Given the description of an element on the screen output the (x, y) to click on. 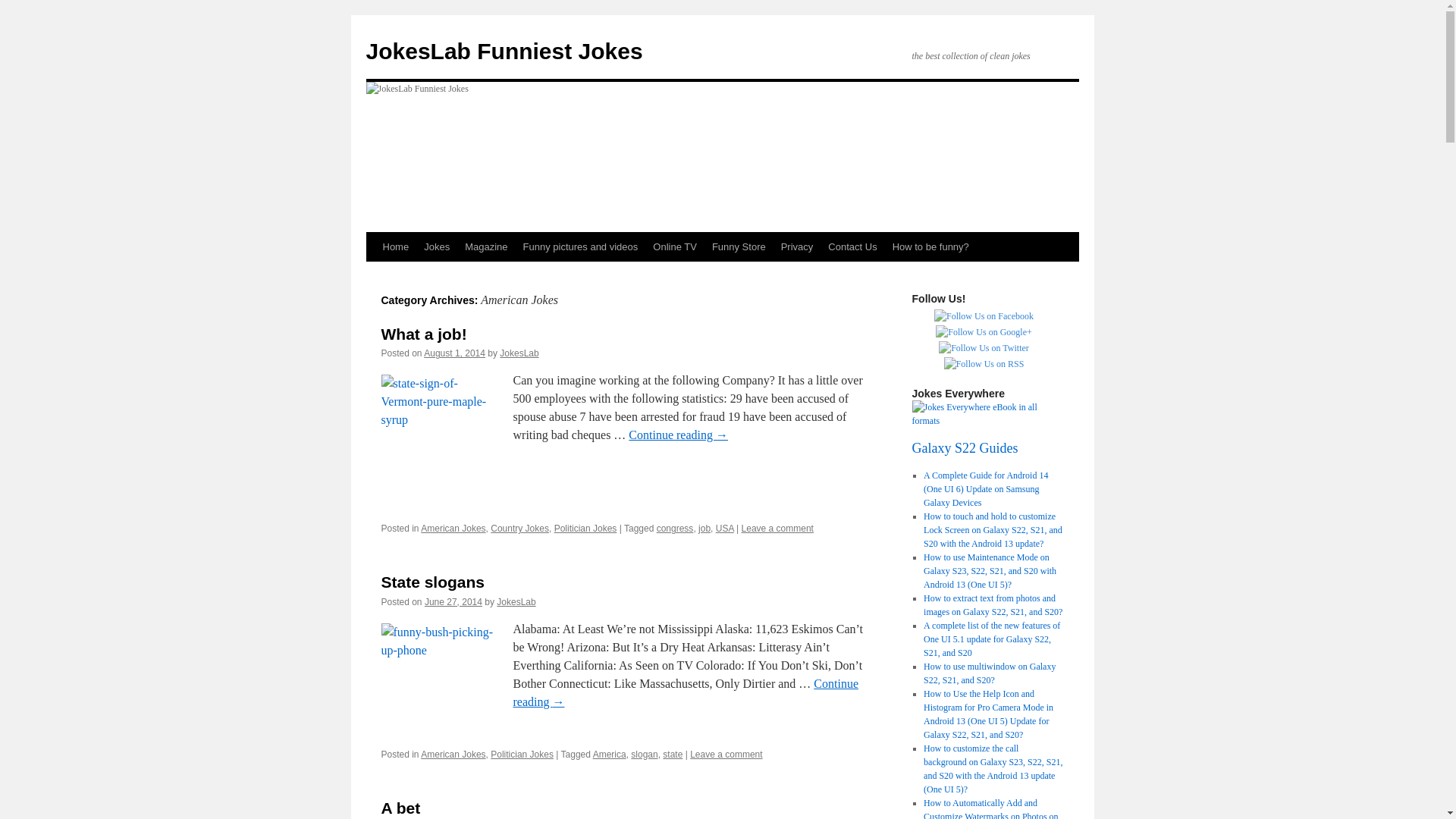
JokesLab (518, 353)
View all posts by JokesLab (515, 602)
June 27, 2014 (453, 602)
Online TV (674, 246)
American Jokes (452, 754)
8:00 am (453, 353)
August 1, 2014 (453, 353)
What a job! (422, 334)
American Jokes (452, 528)
Leave a comment (725, 754)
A bet (400, 807)
job (704, 528)
slogan (644, 754)
Contact Us (852, 246)
Leave a comment (777, 528)
